Given the description of an element on the screen output the (x, y) to click on. 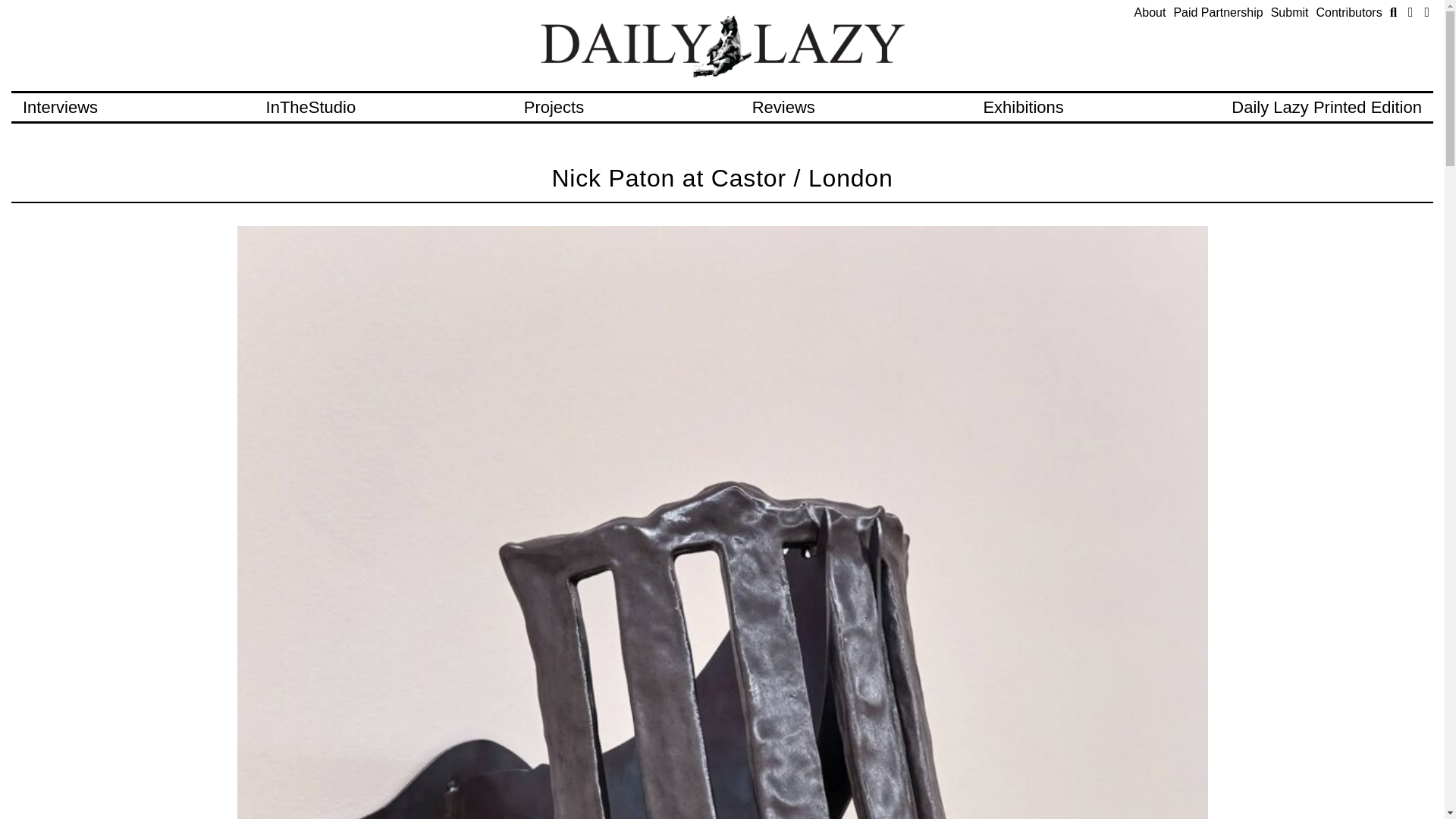
Paid Partnership (1217, 11)
InTheStudio (311, 107)
Submit (1289, 11)
Projects (553, 107)
Reviews (783, 107)
About (1150, 11)
Daily Lazy Printed Edition (1326, 107)
Exhibitions (1022, 107)
Contributors (1348, 11)
Interviews (60, 107)
